Given the description of an element on the screen output the (x, y) to click on. 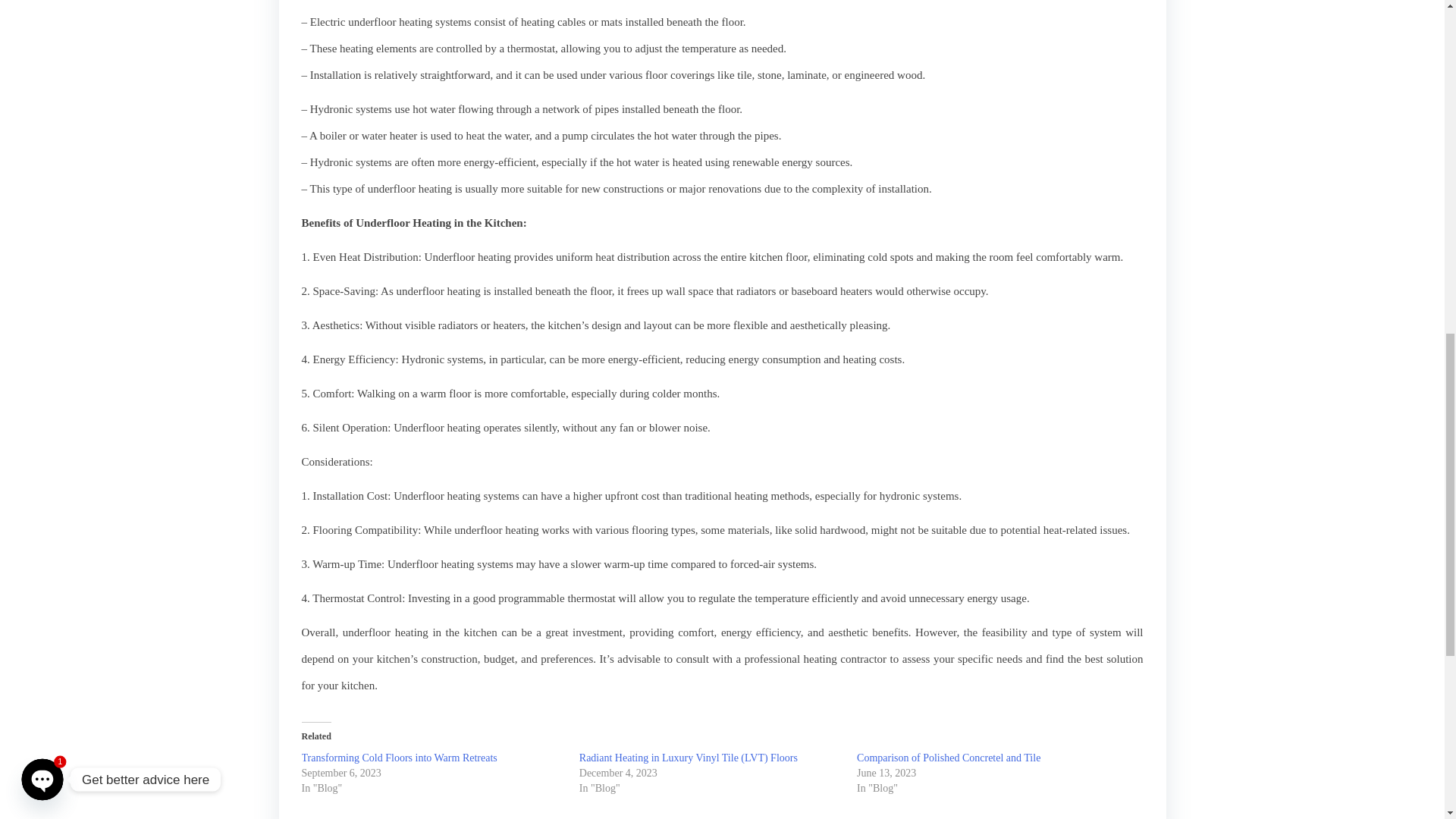
Comparison of Polished Concretel and Tile (949, 757)
Comparison of Polished Concretel and Tile (949, 757)
Transforming Cold Floors into Warm Retreats (399, 757)
Transforming Cold Floors into Warm Retreats (399, 757)
